Given the description of an element on the screen output the (x, y) to click on. 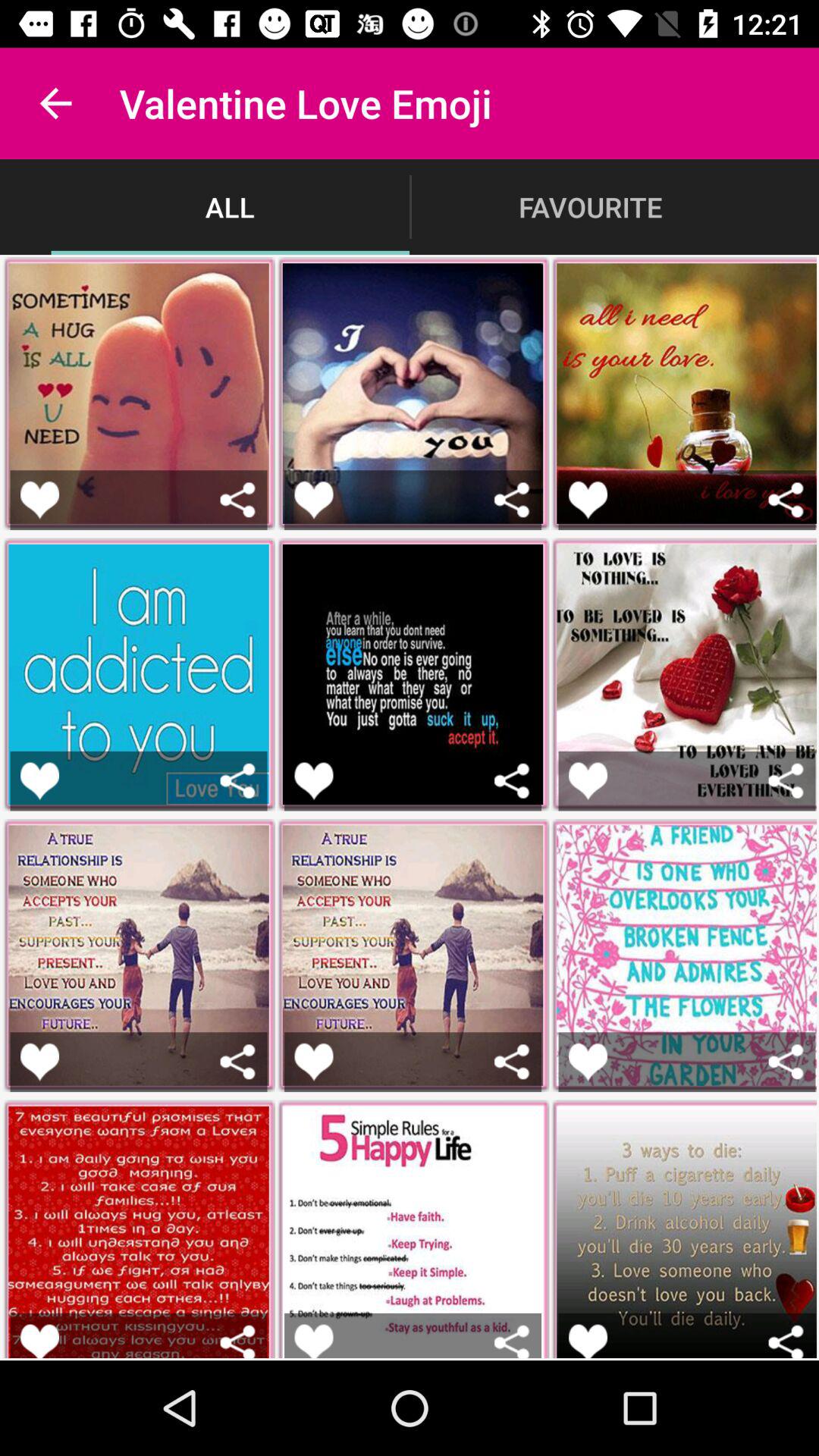
share post (511, 1061)
